Given the description of an element on the screen output the (x, y) to click on. 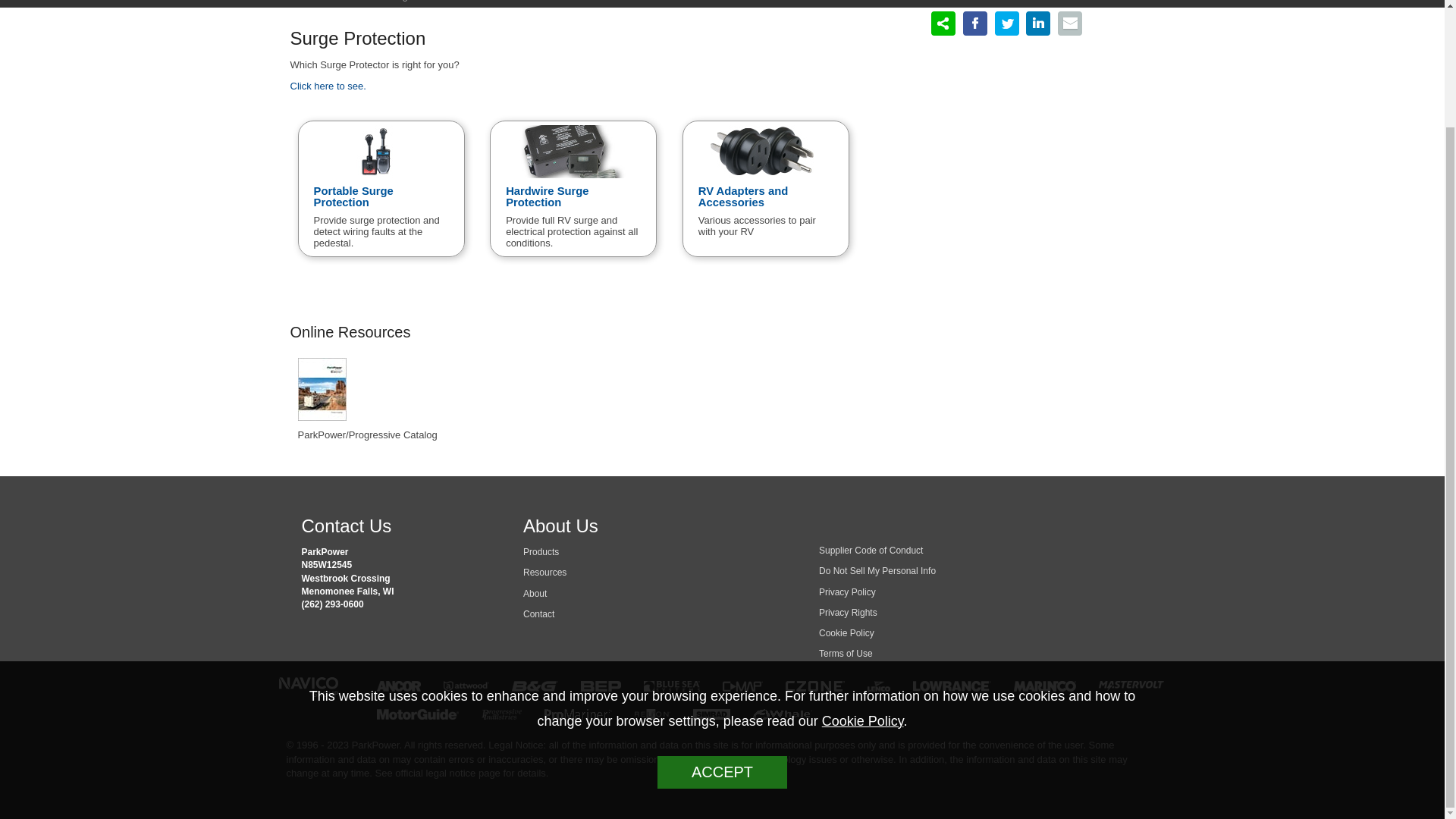
About (534, 593)
Click here to see. (327, 85)
Privacy Policy (847, 592)
Do Not Sell My Personal Info (877, 570)
Hardwire Surge Protection (572, 166)
Cookie Policy (846, 633)
Terms of Use (845, 653)
Contact (538, 614)
Products (351, 0)
Products (540, 552)
Resources (544, 572)
Portable Surge Protection (381, 166)
Home (302, 0)
About (534, 593)
Products (540, 552)
